Given the description of an element on the screen output the (x, y) to click on. 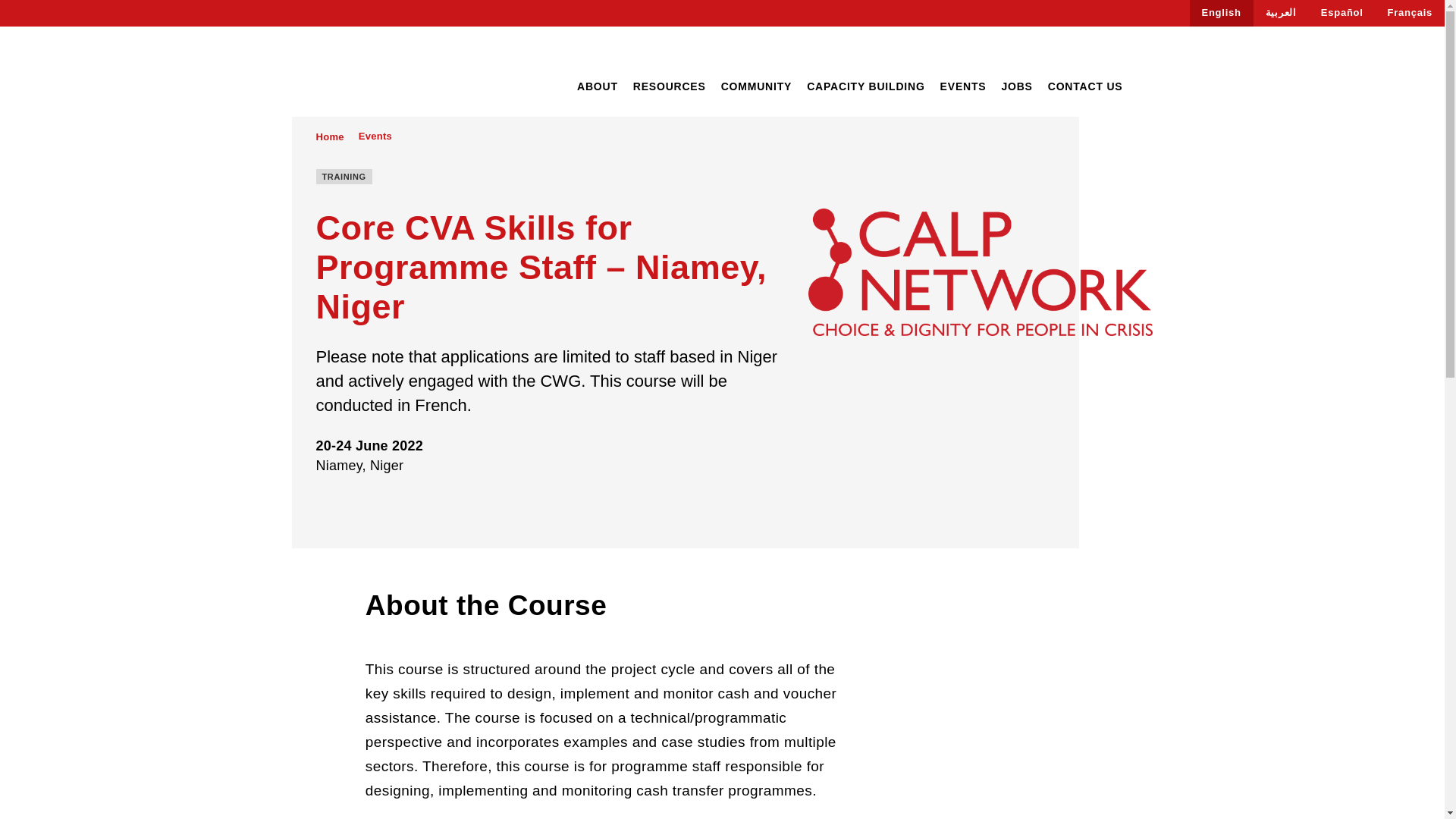
Share on email (407, 505)
CONTACT US (1085, 86)
Go to homepage (363, 72)
COMMUNITY (756, 86)
Share on Facebook (321, 505)
RESOURCES (669, 86)
Go to Home (329, 136)
Go to Events (374, 136)
ABOUT (596, 86)
EVENTS (963, 86)
CAPACITY BUILDING (865, 86)
Share on Twitter (350, 505)
JOBS (1016, 86)
